Given the description of an element on the screen output the (x, y) to click on. 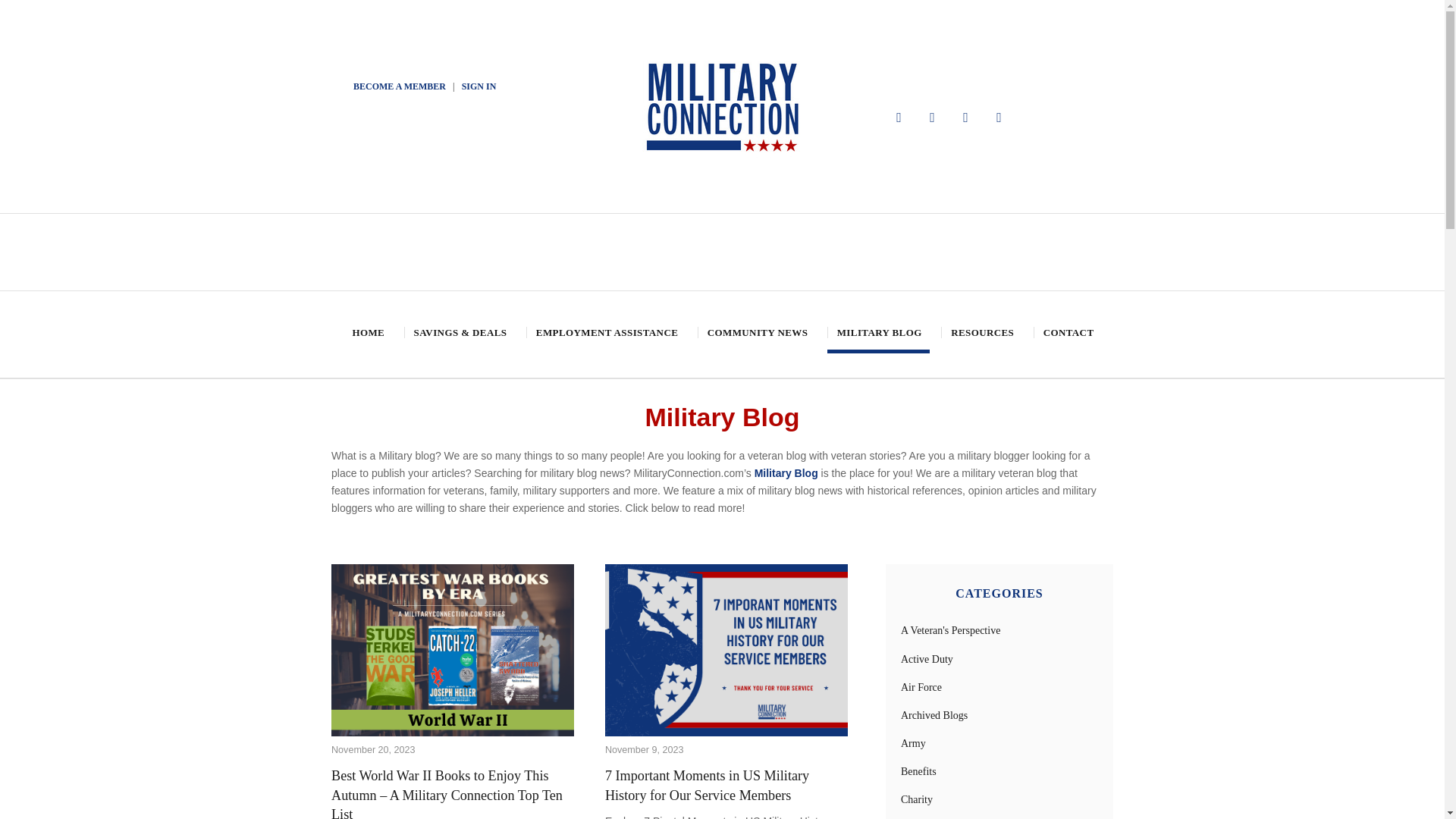
LinkedIn (999, 117)
SIGN IN (478, 86)
CONTACT (1067, 332)
Pinterest (965, 117)
Facebook (899, 117)
EMPLOYMENT ASSISTANCE (605, 332)
MILITARY BLOG (878, 332)
COMMUNITY NEWS (756, 332)
HOME (366, 332)
BECOME A MEMBER (399, 86)
Twitter (932, 117)
RESOURCES (981, 332)
